Given the description of an element on the screen output the (x, y) to click on. 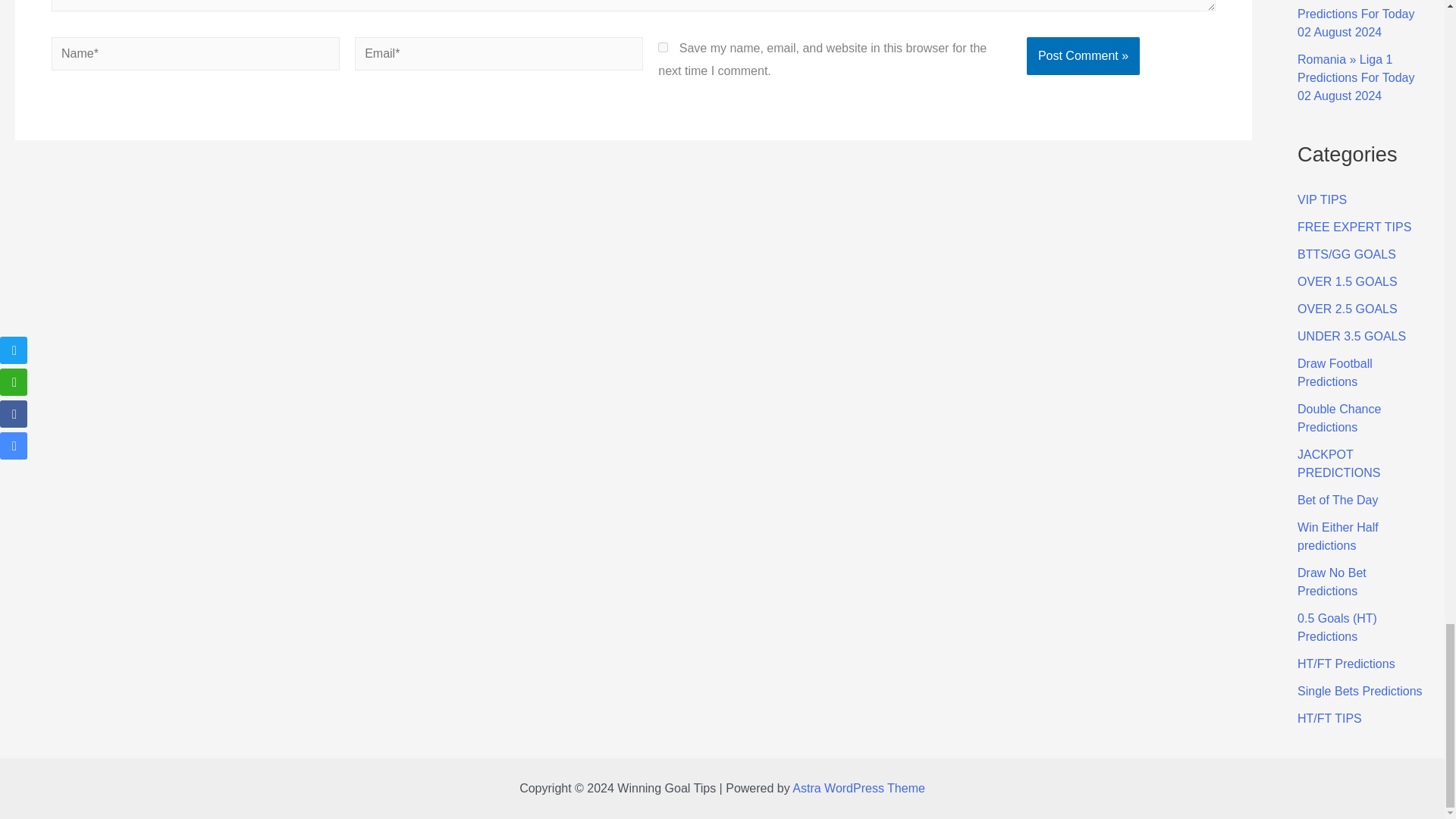
yes (663, 47)
